Given the description of an element on the screen output the (x, y) to click on. 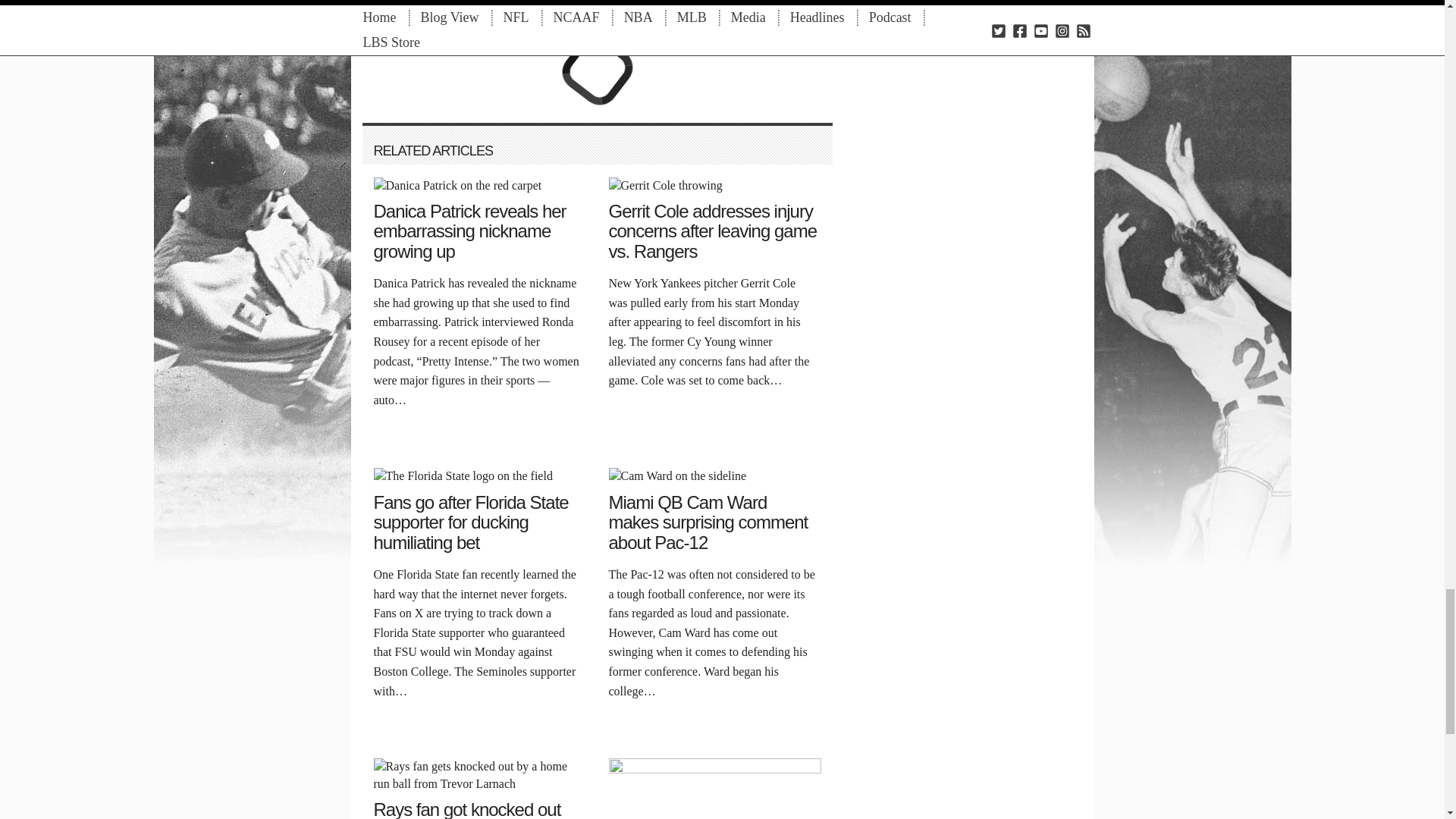
Rays fan got knocked out after getting hit by home run (478, 773)
Miami QB Cam Ward makes surprising comment about Pac-12 (676, 474)
Danica Patrick reveals her embarrassing nickname growing up (456, 183)
